Given the description of an element on the screen output the (x, y) to click on. 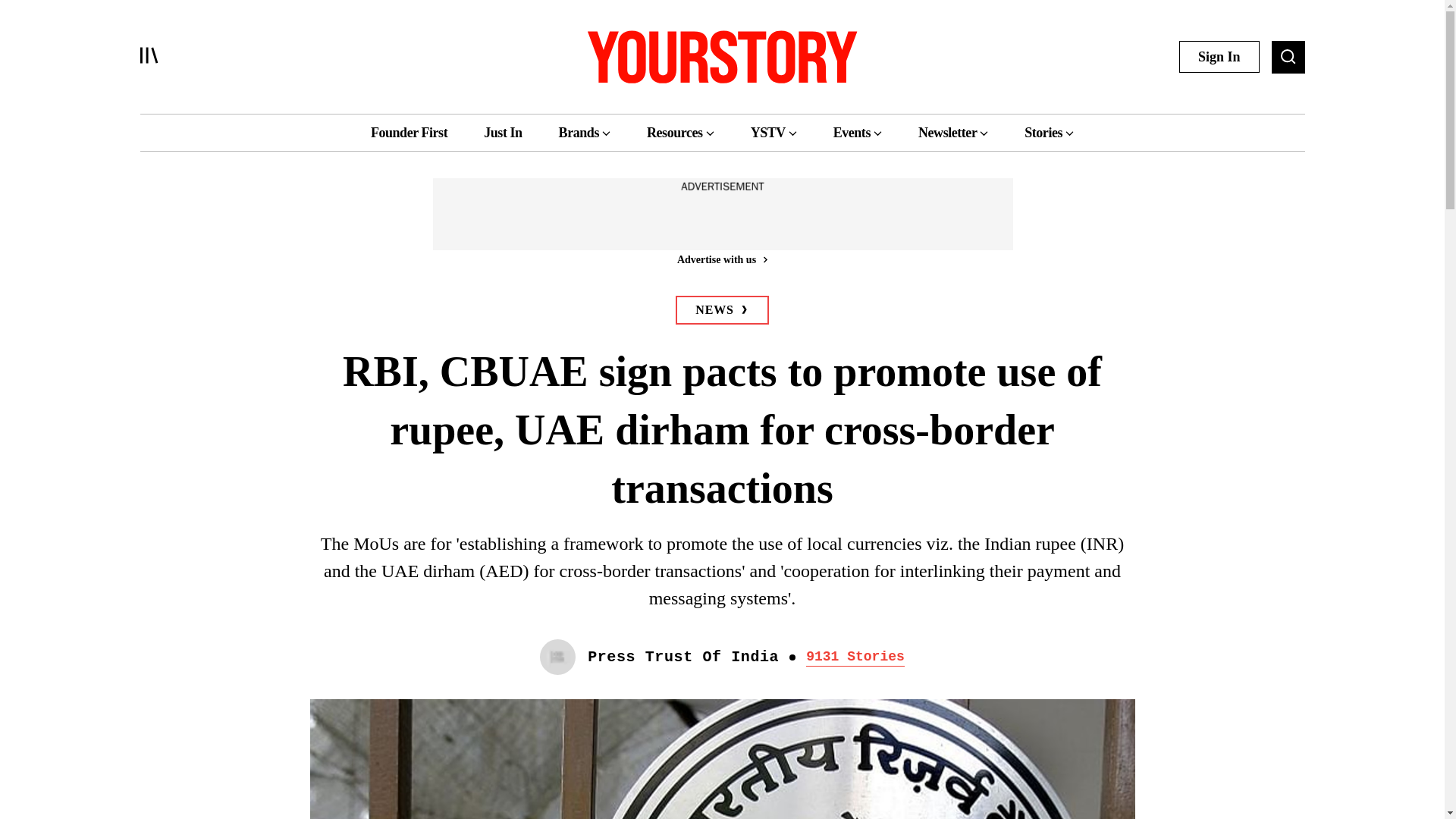
NEWS (721, 309)
9131 Stories (855, 656)
Advertise with us (721, 259)
Just In (502, 132)
Press Trust Of India (683, 656)
Founder First (408, 132)
